Given the description of an element on the screen output the (x, y) to click on. 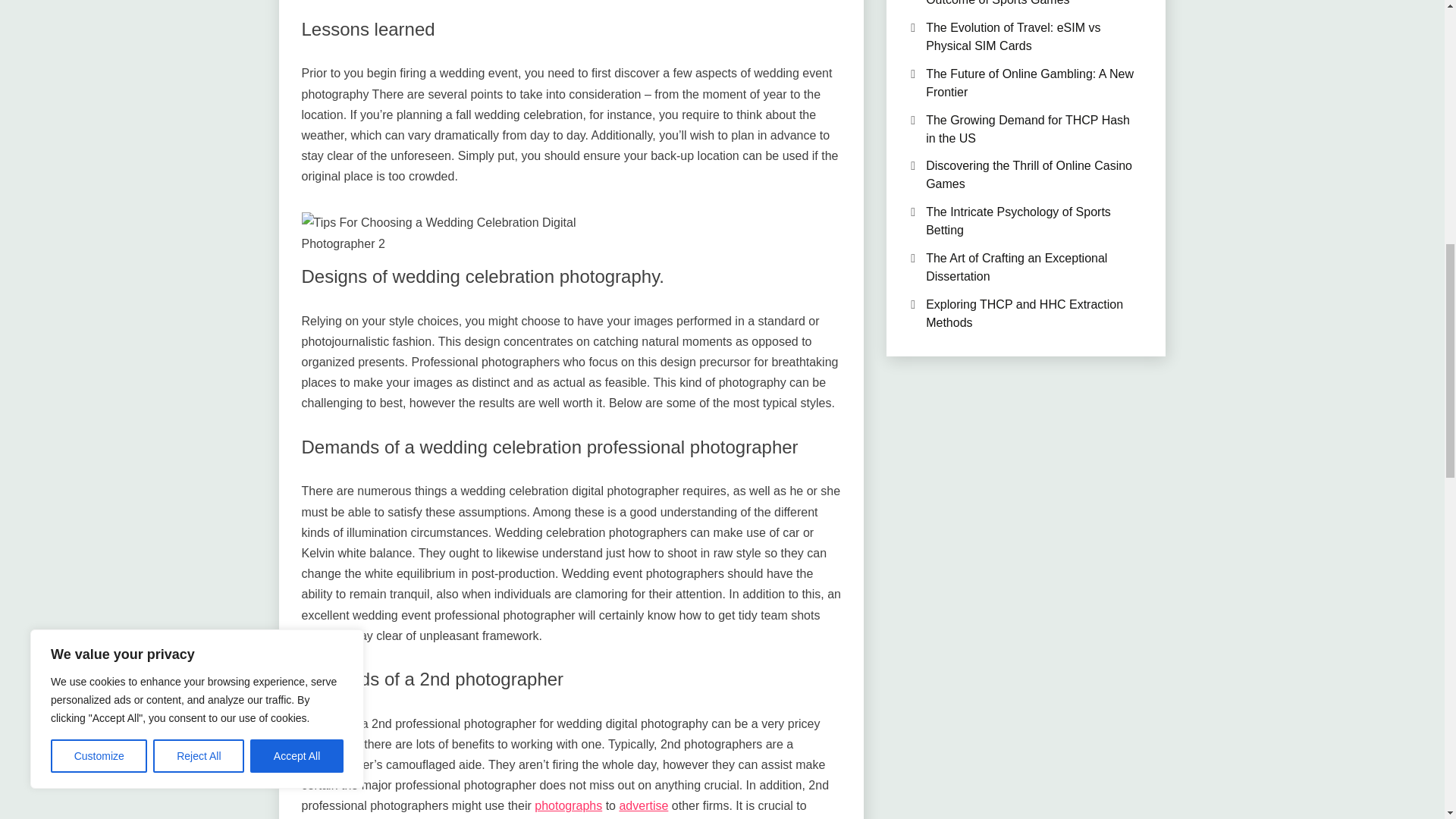
advertise (643, 805)
photographs (568, 805)
